Given the description of an element on the screen output the (x, y) to click on. 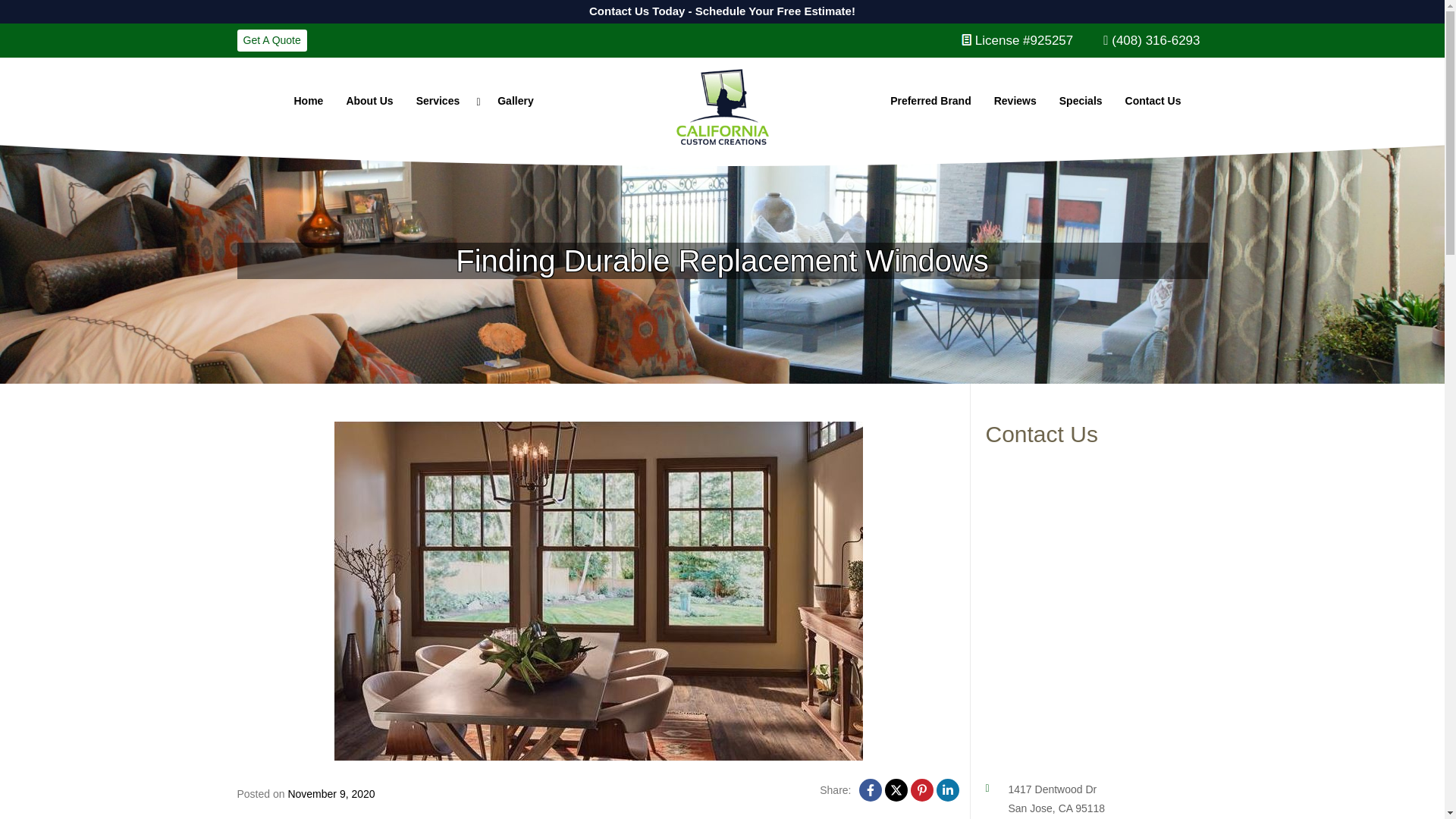
About Us (369, 101)
Gallery (515, 101)
Contact Us (1152, 101)
Services (445, 101)
Contact Us Today - Schedule Your Free Estimate! (133, 8)
Reviews (1015, 101)
Contact Us Today - Schedule Your Free Estimate! (721, 11)
Get A Quote (270, 40)
Preferred Brand (930, 101)
Home (308, 101)
